Given the description of an element on the screen output the (x, y) to click on. 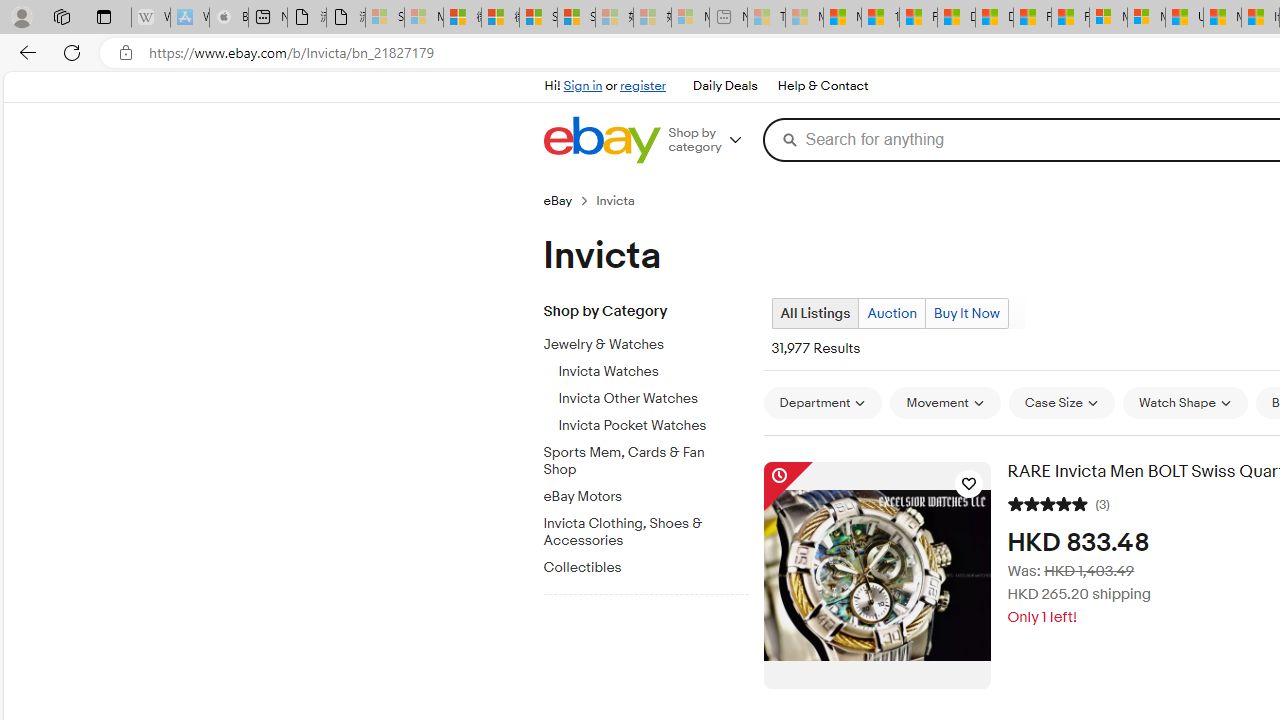
Help & Contact (821, 85)
Invicta Watches (653, 368)
Food and Drink - MSN (917, 17)
Daily Deals (724, 86)
Foo BAR | Trusted Community Engagement and Contributions (1070, 17)
Shop by category (711, 140)
Help & Contact (822, 86)
Auction (891, 313)
register (642, 85)
Sports Mem, Cards & Fan Shop (653, 458)
Top Stories - MSN - Sleeping (765, 17)
Jewelry & Watches (637, 345)
